Given the description of an element on the screen output the (x, y) to click on. 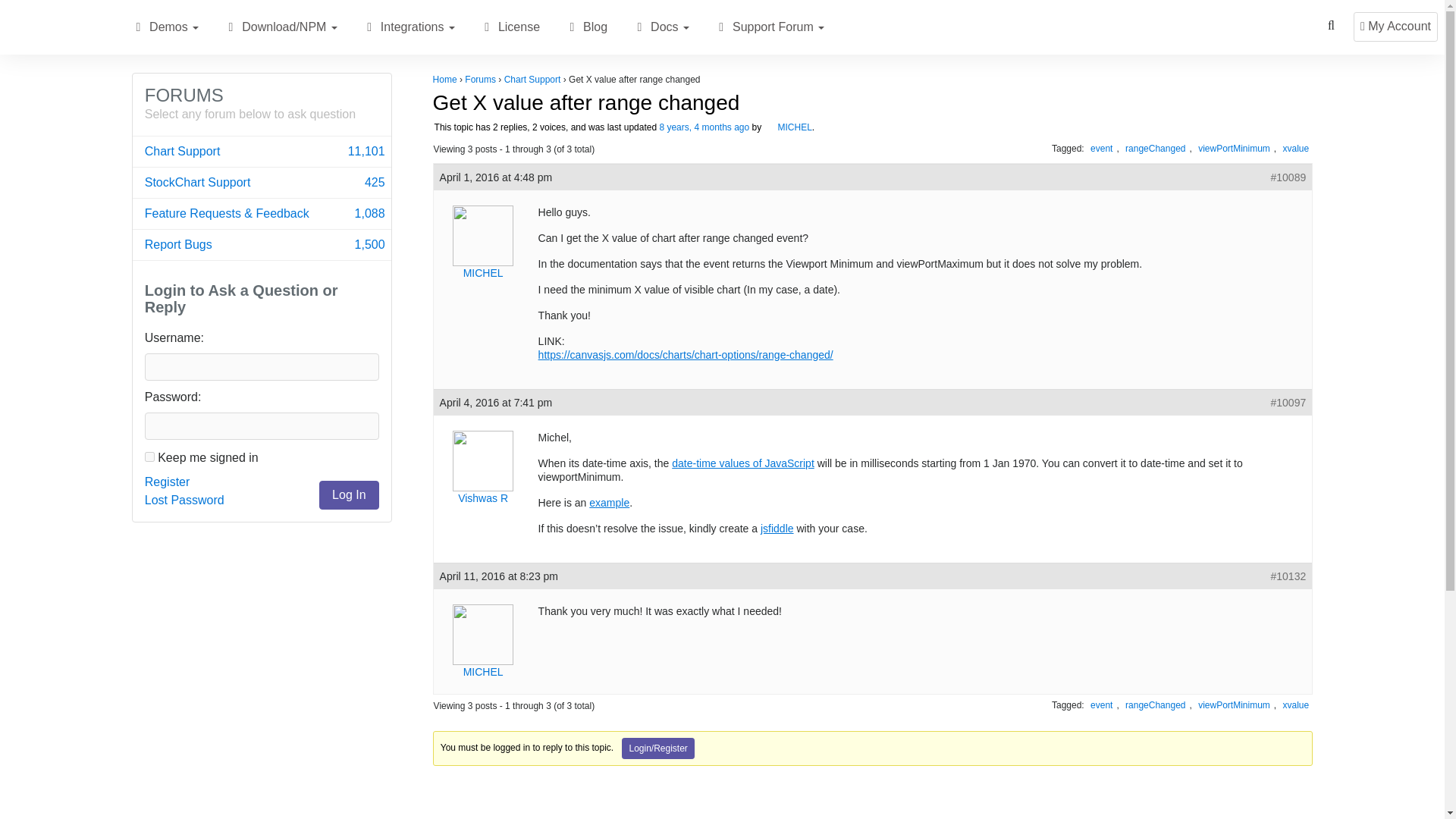
Reply To: Get X value after range changed (704, 127)
Report Bugs (261, 245)
Support Forum (721, 27)
Chart Demos (139, 27)
Register (167, 482)
Blog (571, 27)
CanvasJS (57, 26)
View MICHEL's profile (788, 127)
Integrations (261, 102)
